Given the description of an element on the screen output the (x, y) to click on. 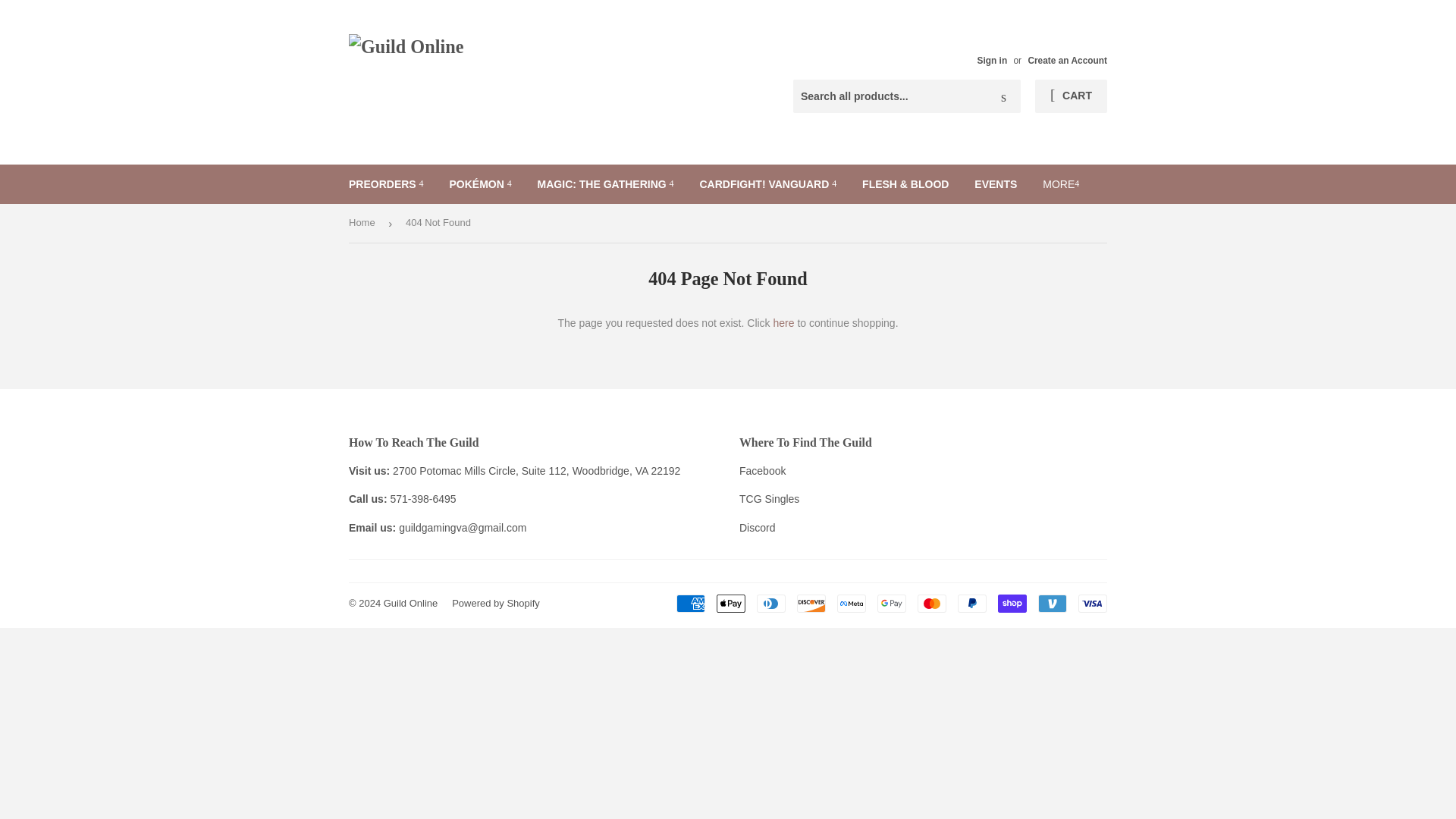
Create an Account (1066, 60)
Visa (1092, 603)
Discover (810, 603)
Diners Club (771, 603)
American Express (690, 603)
Apple Pay (730, 603)
PayPal (972, 603)
Mastercard (931, 603)
Search (1003, 97)
CART (1070, 96)
Sign in (991, 60)
Meta Pay (851, 603)
Venmo (1052, 603)
Google Pay (891, 603)
Shop Pay (1011, 603)
